Given the description of an element on the screen output the (x, y) to click on. 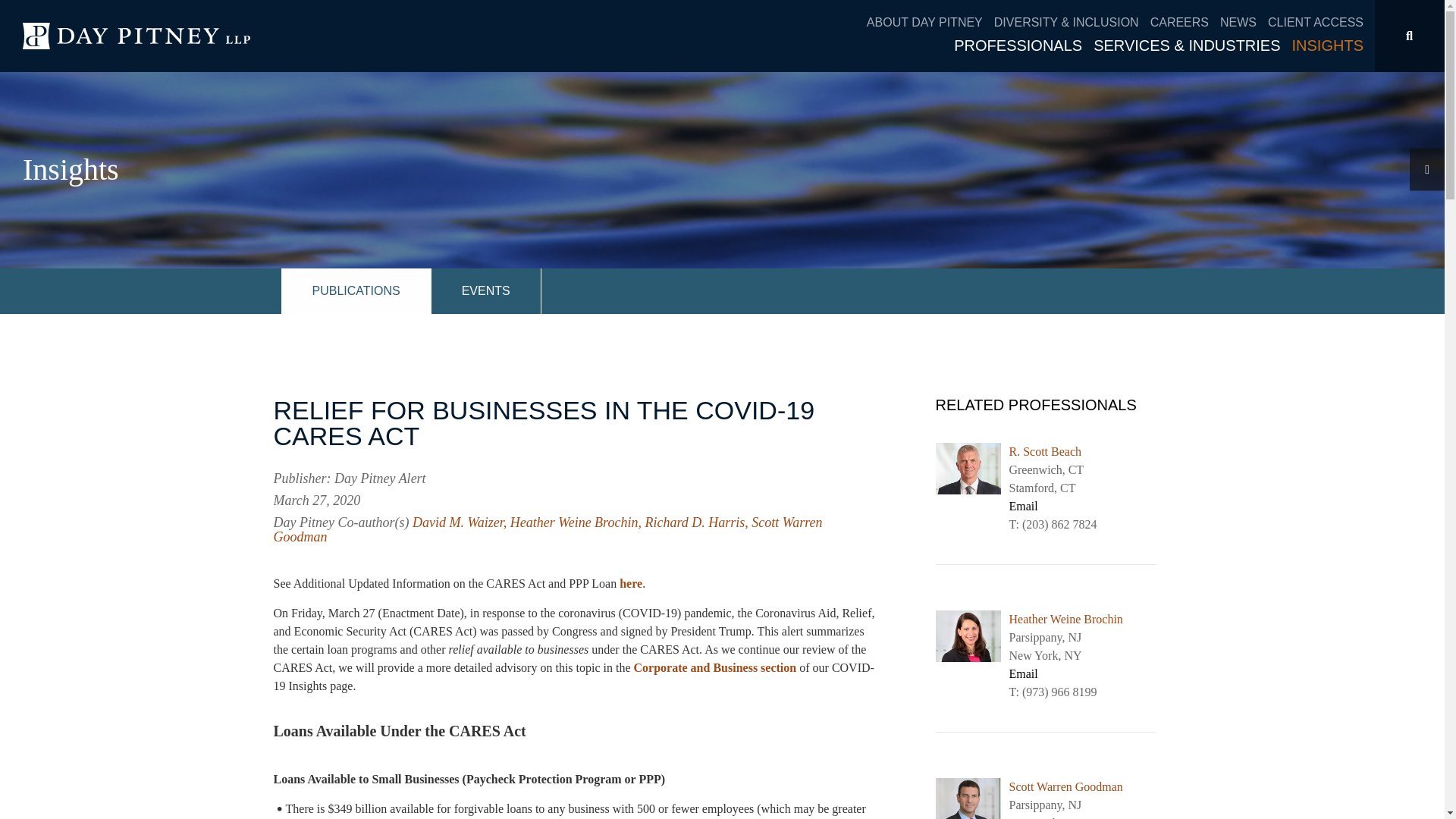
EVENTS (485, 290)
CLIENT ACCESS (1315, 22)
CAREERS (1185, 22)
NEWS (1244, 22)
INSIGHTS (1327, 45)
PROFESSIONALS (1023, 45)
ABOUT DAY PITNEY (930, 22)
PUBLICATIONS (355, 290)
